Given the description of an element on the screen output the (x, y) to click on. 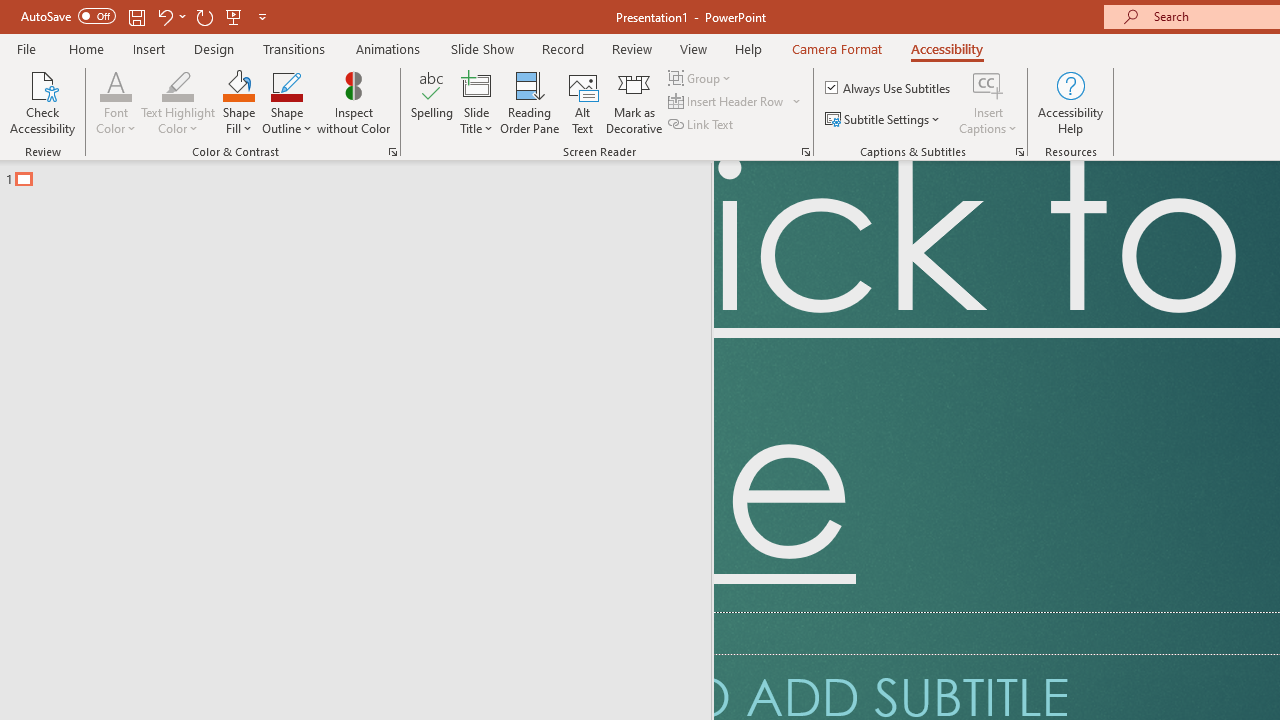
File Tab (46, 19)
View (205, 19)
Tools (127, 19)
